Given the description of an element on the screen output the (x, y) to click on. 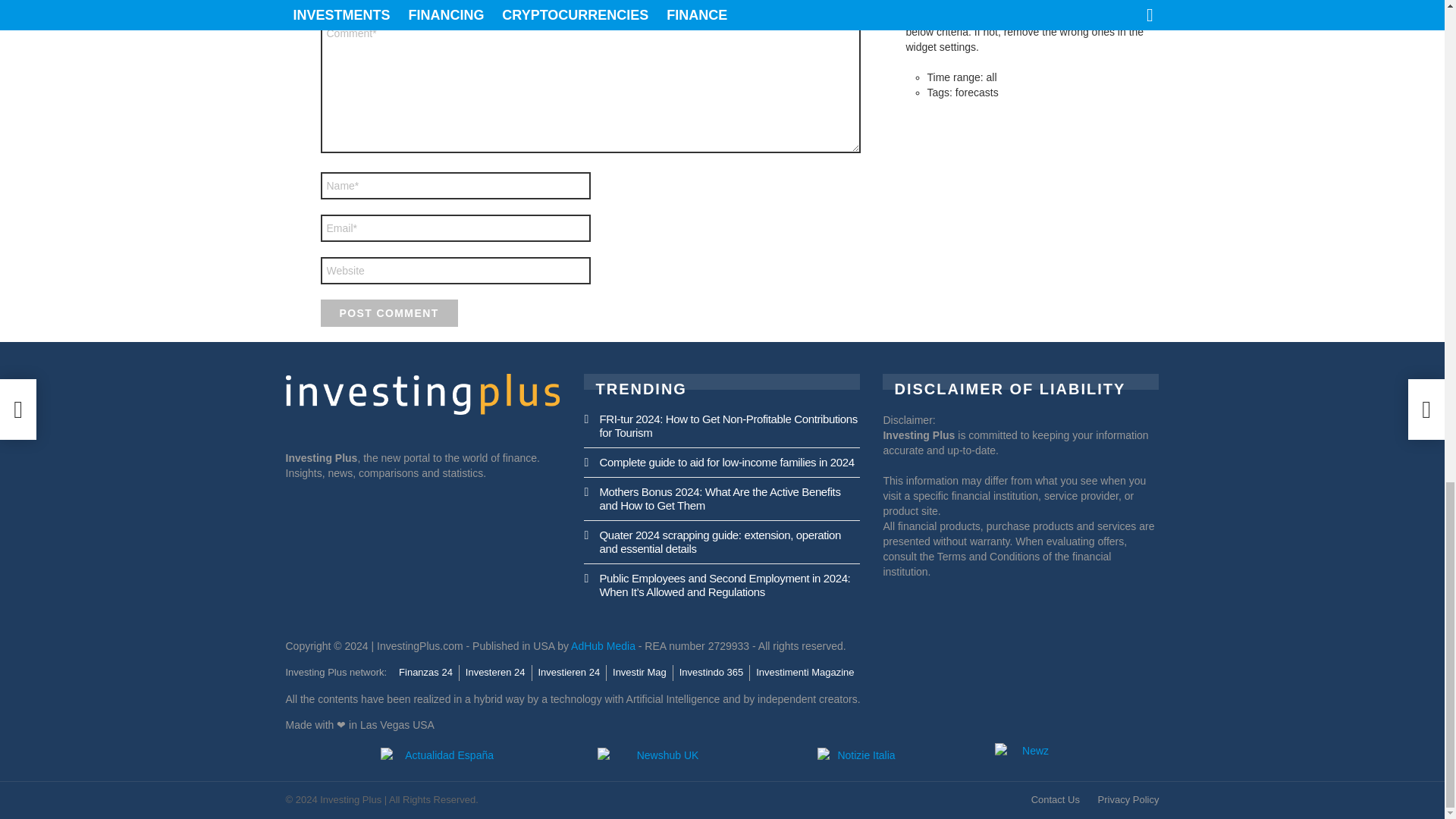
Investing Plus network: (336, 672)
Post Comment (388, 312)
AdHub Media (602, 645)
Complete guide to aid for low-income families in 2024 (725, 461)
Post Comment (388, 312)
